Given the description of an element on the screen output the (x, y) to click on. 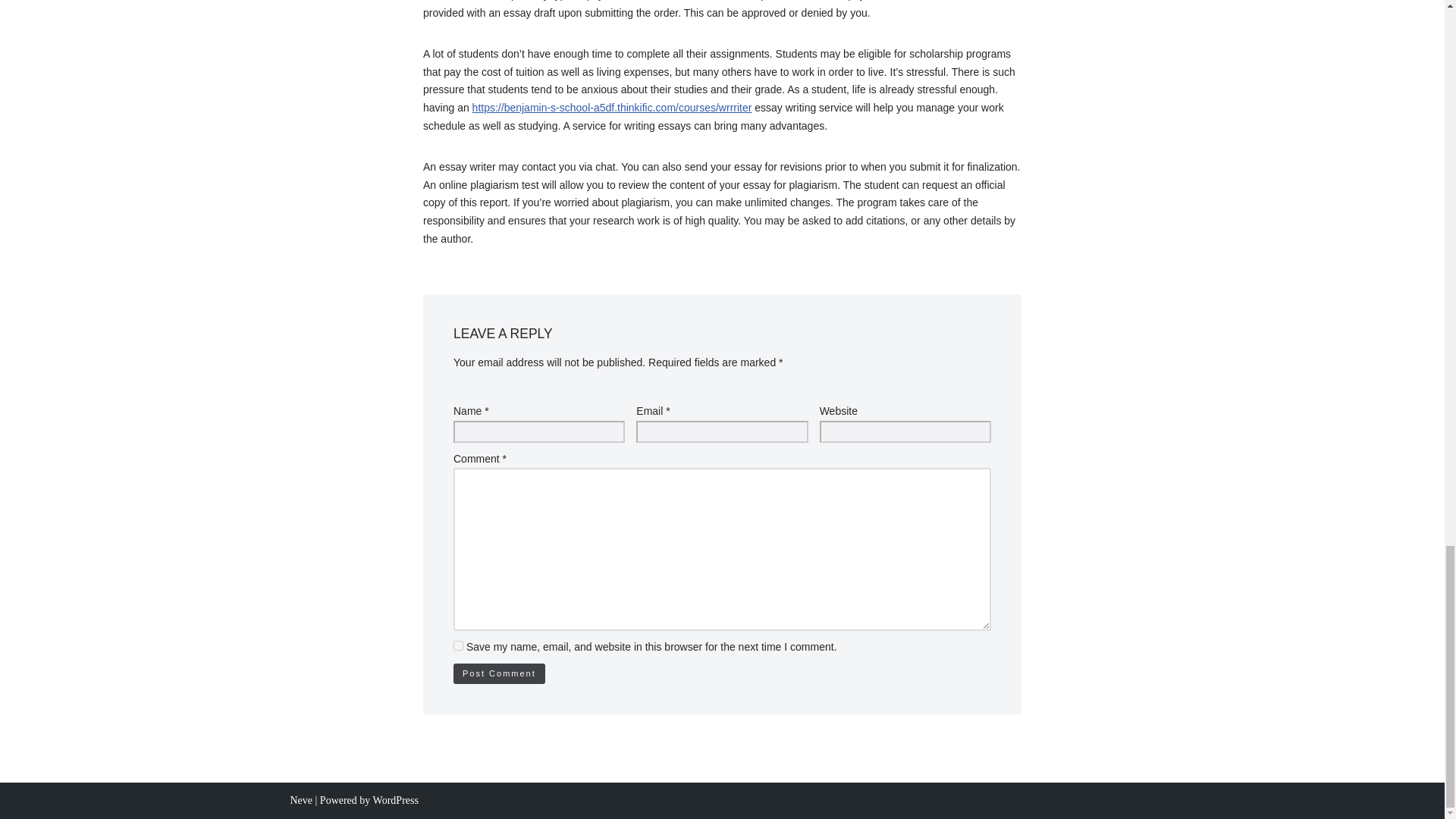
yes (457, 645)
Post Comment (498, 673)
Post Comment (498, 673)
WordPress (395, 799)
Neve (301, 799)
